Given the description of an element on the screen output the (x, y) to click on. 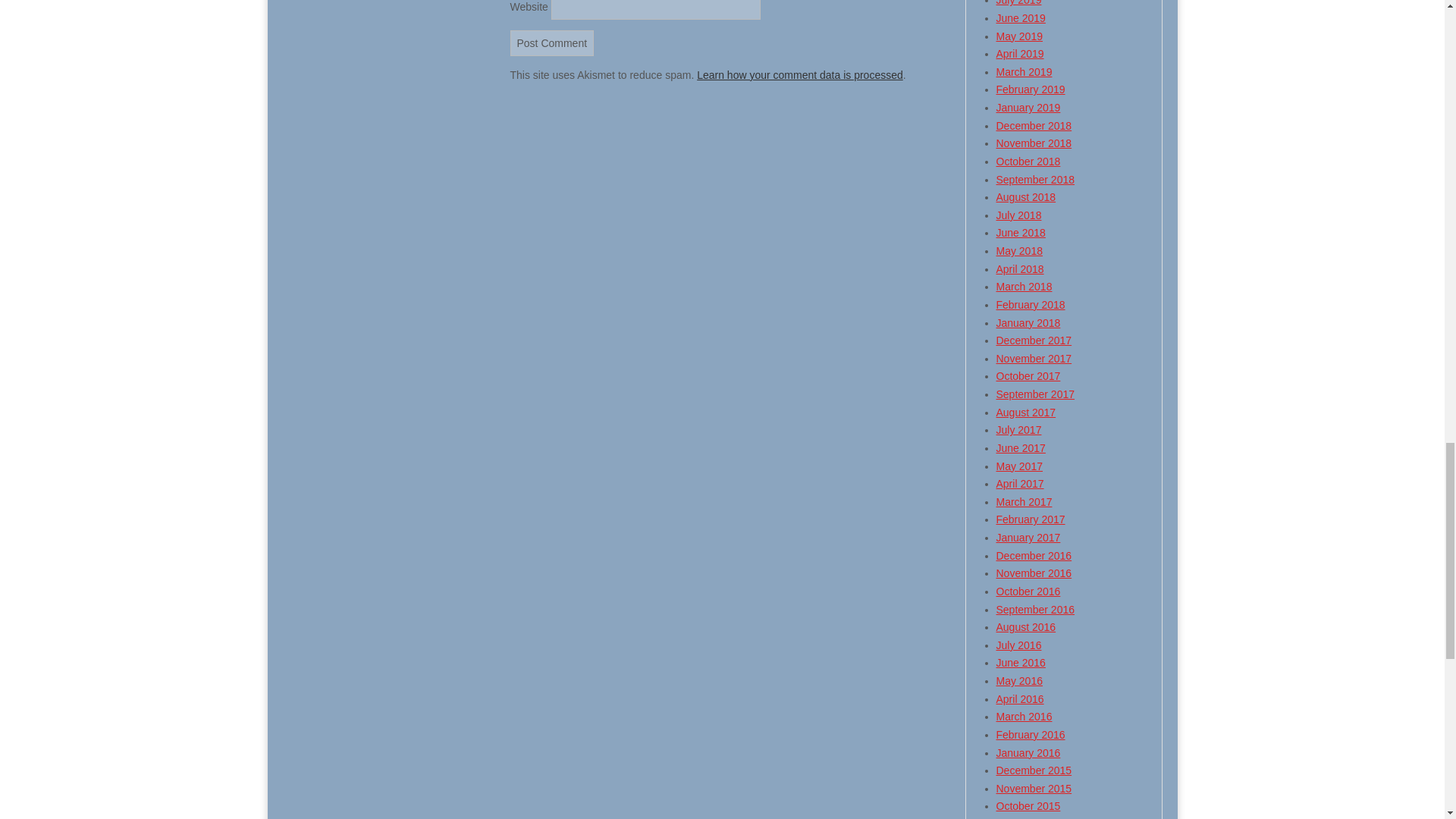
Post Comment (551, 43)
Post Comment (551, 43)
Learn how your comment data is processed (799, 74)
